Given the description of an element on the screen output the (x, y) to click on. 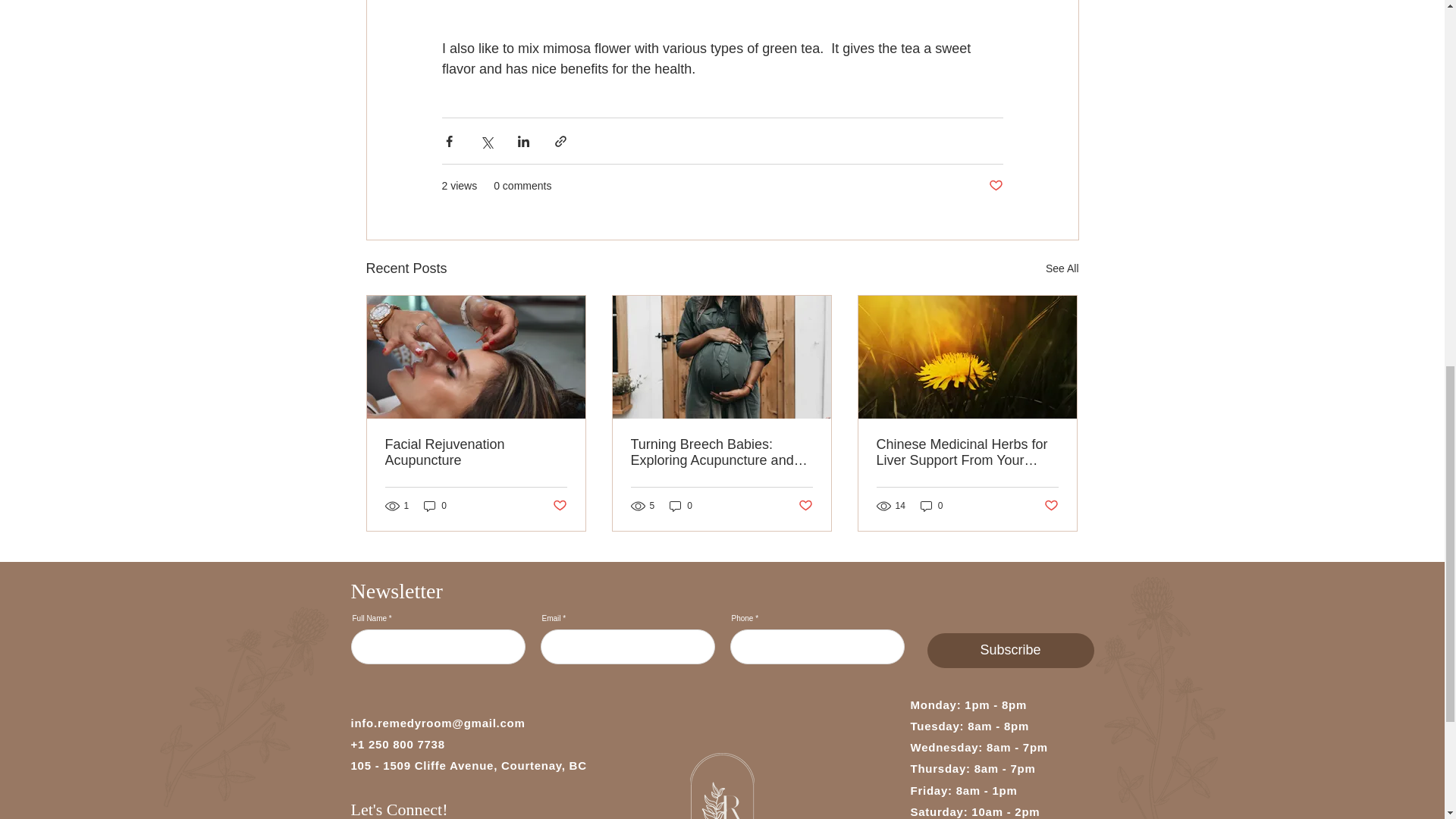
0 (681, 505)
Post not marked as liked (804, 505)
Chinese Medicinal Herbs for Liver Support From Your Garden (967, 452)
Post not marked as liked (995, 186)
Post not marked as liked (558, 505)
0 (435, 505)
See All (1061, 268)
The Remedy Room (243, 698)
Facial Rejuvenation Acupuncture (476, 452)
